Given the description of an element on the screen output the (x, y) to click on. 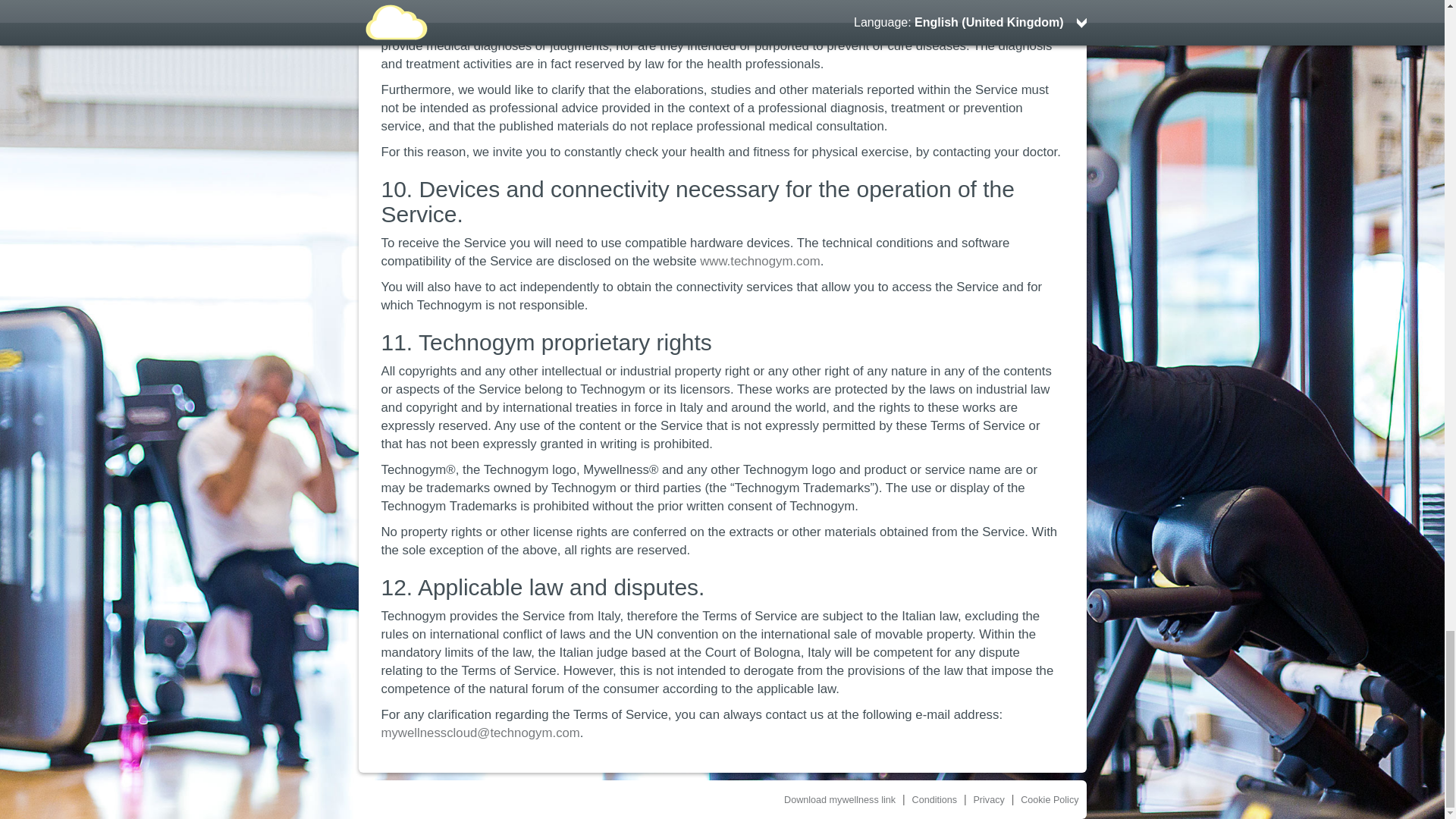
Privacy (988, 799)
www.technogym.com (760, 260)
Download mywellness link (839, 799)
Conditions (935, 799)
Cookie Policy (1049, 799)
